Given the description of an element on the screen output the (x, y) to click on. 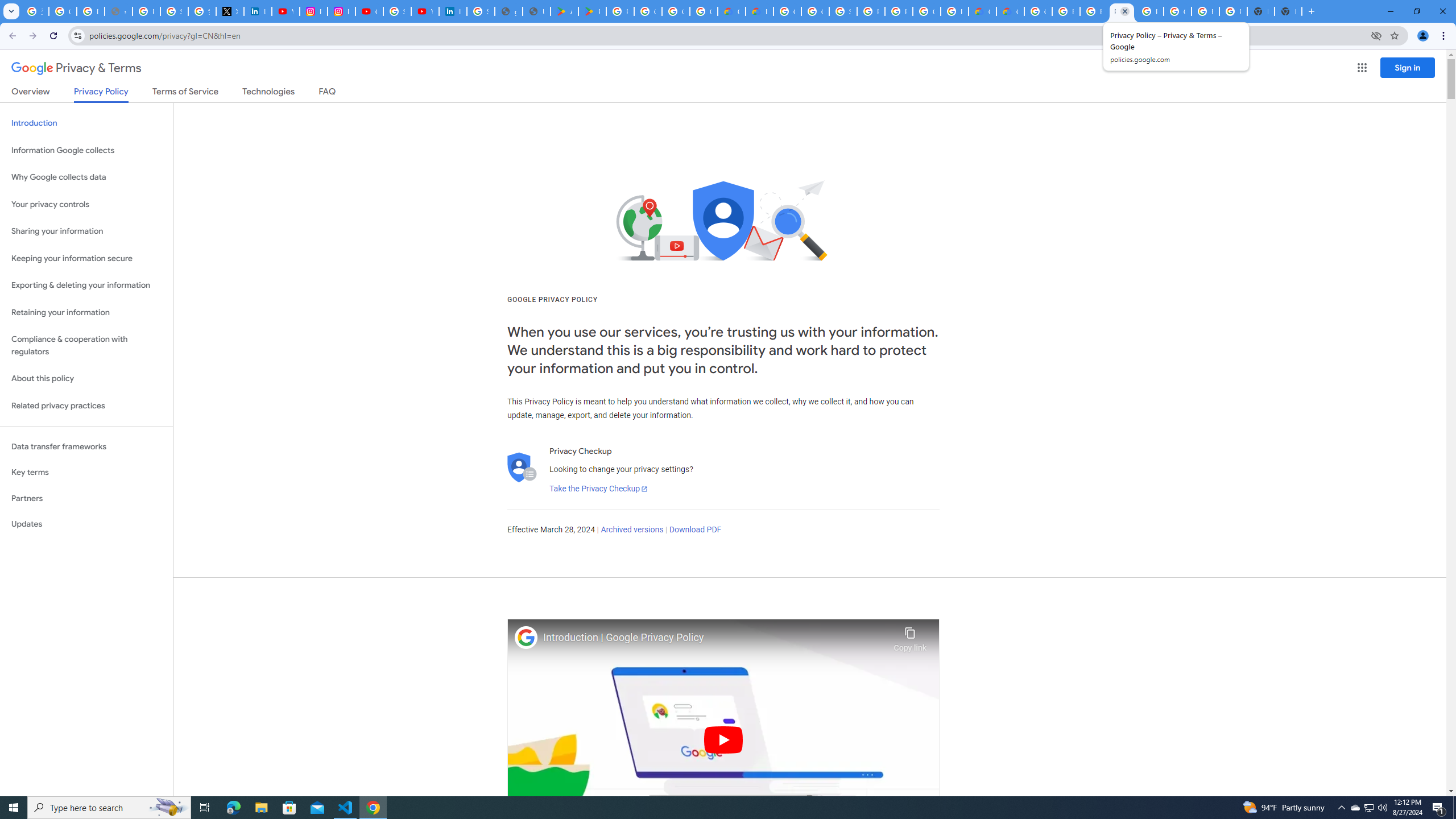
Sign in - Google Accounts (397, 11)
Compliance & cooperation with regulators (86, 345)
Keeping your information secure (86, 258)
Customer Care | Google Cloud (982, 11)
Partners (86, 497)
Introduction | Google Privacy Policy (715, 637)
Information Google collects (86, 150)
YouTube Content Monetization Policies - How YouTube Works (285, 11)
Sign in - Google Accounts (174, 11)
